Given the description of an element on the screen output the (x, y) to click on. 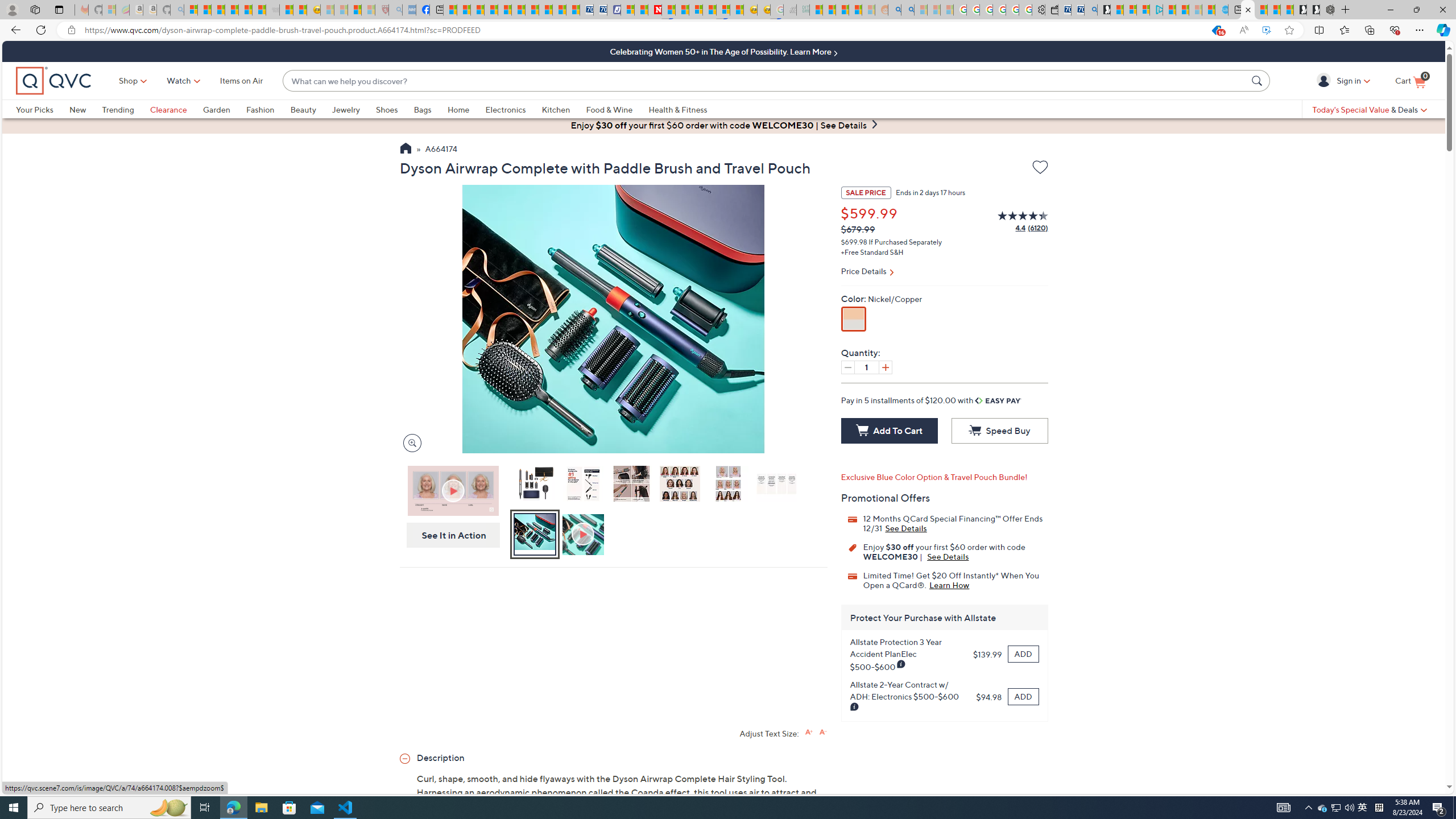
Microsoft account | Privacy (1142, 9)
Pay in 5 installments of $120.00 with Easy Pay (931, 399)
Zoom product image, opens image gallery dialog (408, 442)
Bing Real Estate - Home sales and rental listings (1090, 9)
You have the best price! (1216, 29)
Easy Pay (998, 400)
On-Air Presentation (453, 490)
